Given the description of an element on the screen output the (x, y) to click on. 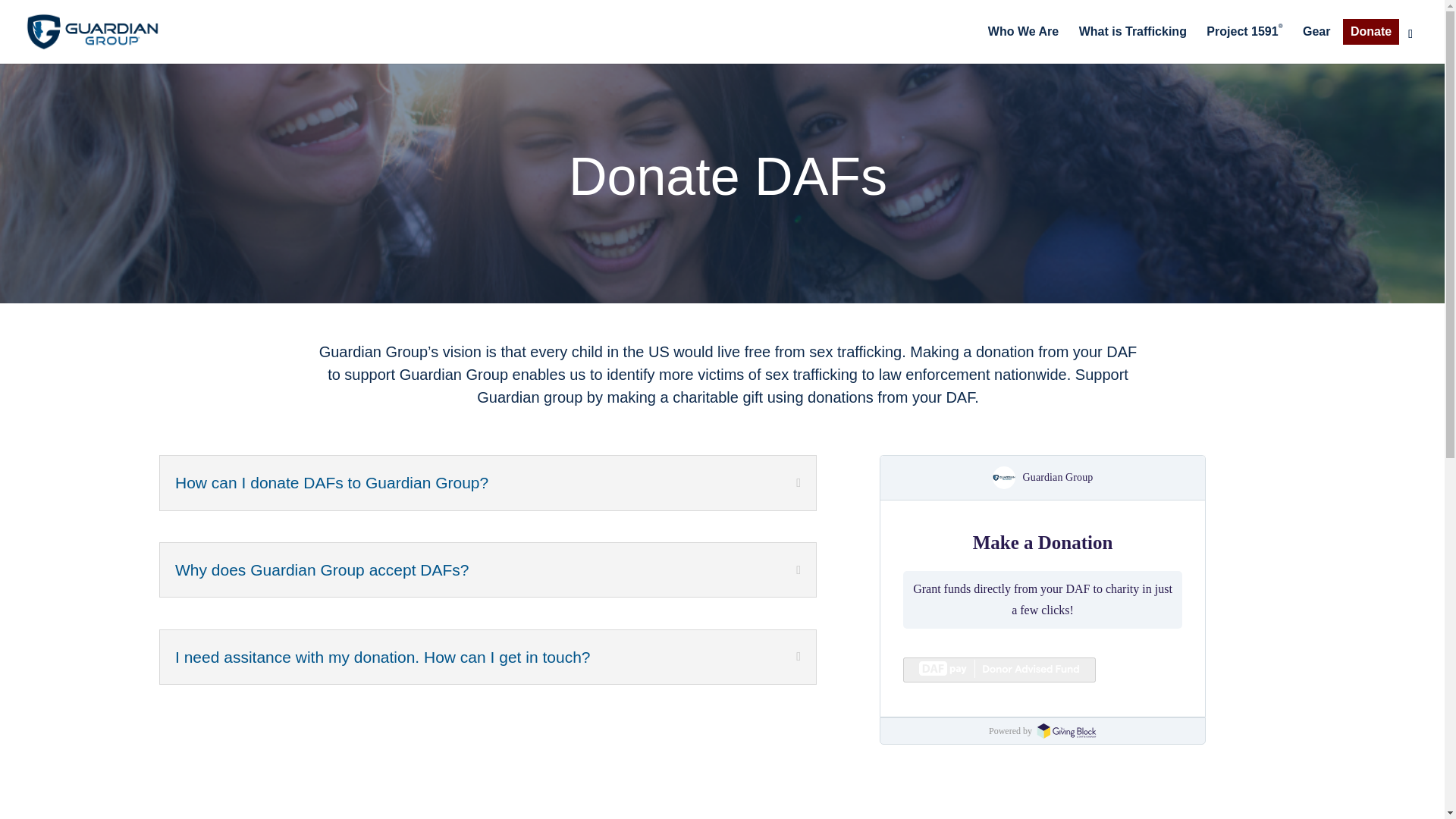
Donate (1370, 31)
Who We Are (1023, 44)
What is Trafficking (1132, 44)
